Given the description of an element on the screen output the (x, y) to click on. 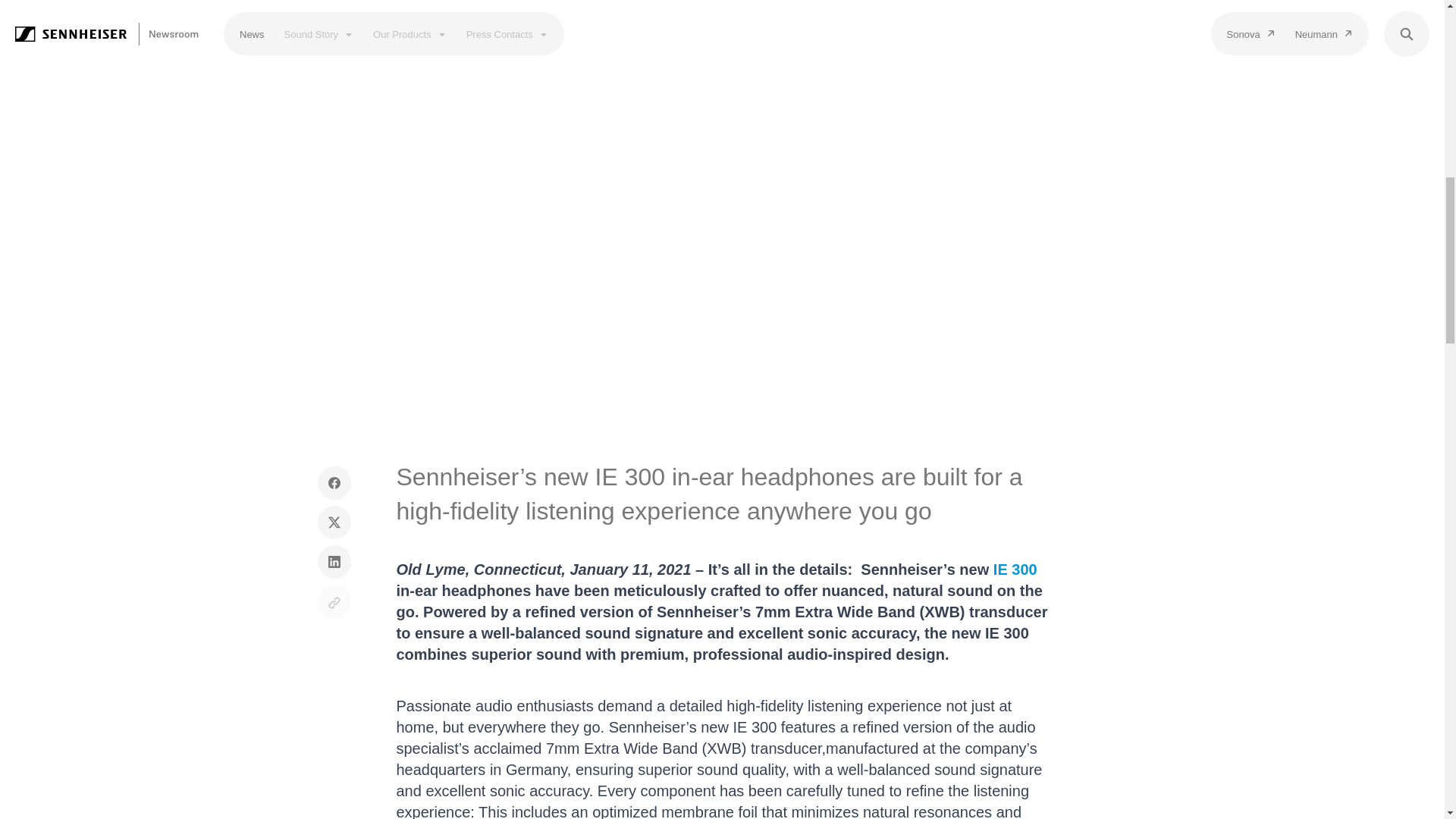
Copy URL (333, 601)
IE 300 (1014, 569)
